Given the description of an element on the screen output the (x, y) to click on. 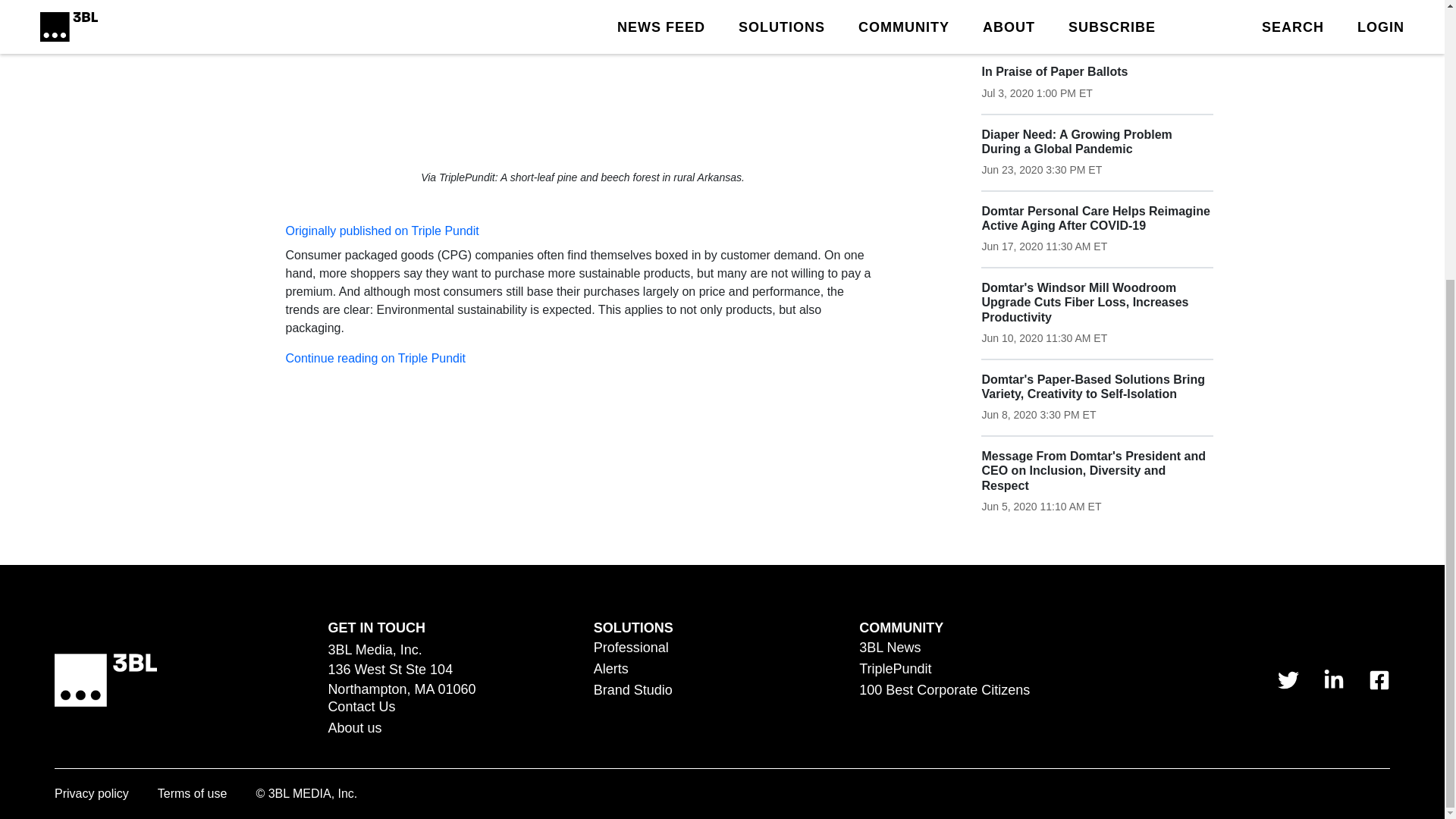
link to 3 B L Media's Facebook (1379, 680)
link to 3 B L Media's Linkedin (1333, 680)
link to 3 B L Media's Twitter (1288, 680)
